Given the description of an element on the screen output the (x, y) to click on. 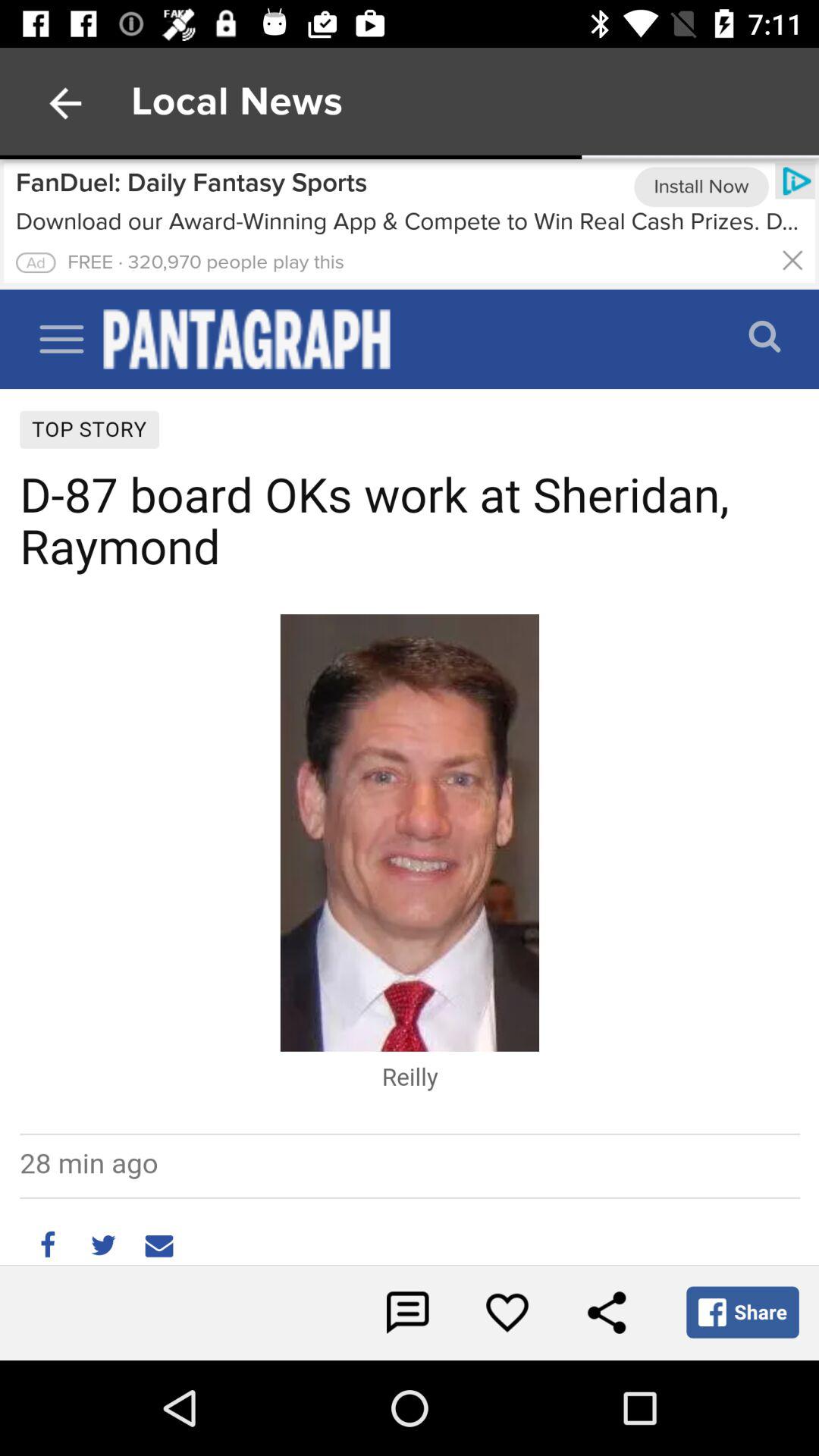
click the icon right side of install now (796, 181)
go to heart symbol (506, 1312)
click on the advertisement right above the pantagraph (401, 222)
click on share icon at bottom right (606, 1312)
